Given the description of an element on the screen output the (x, y) to click on. 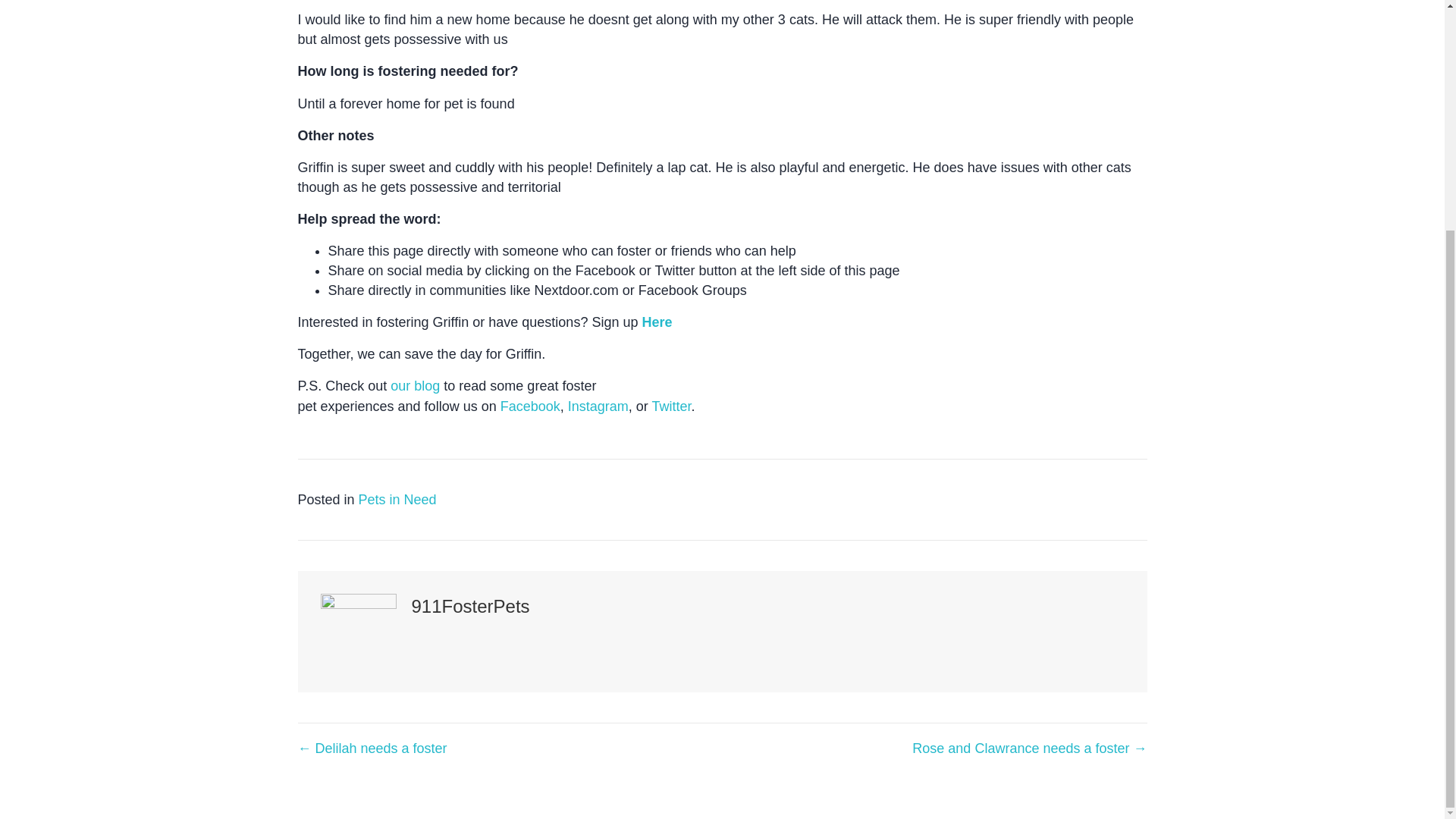
our blog (414, 385)
Griffin's story (656, 322)
Instagram (597, 406)
Pets in Need (397, 499)
Instagram (597, 406)
Twitter (670, 406)
Facebook (530, 406)
Facebook (530, 406)
our blog (414, 385)
Twitter (670, 406)
Here (656, 322)
